Given the description of an element on the screen output the (x, y) to click on. 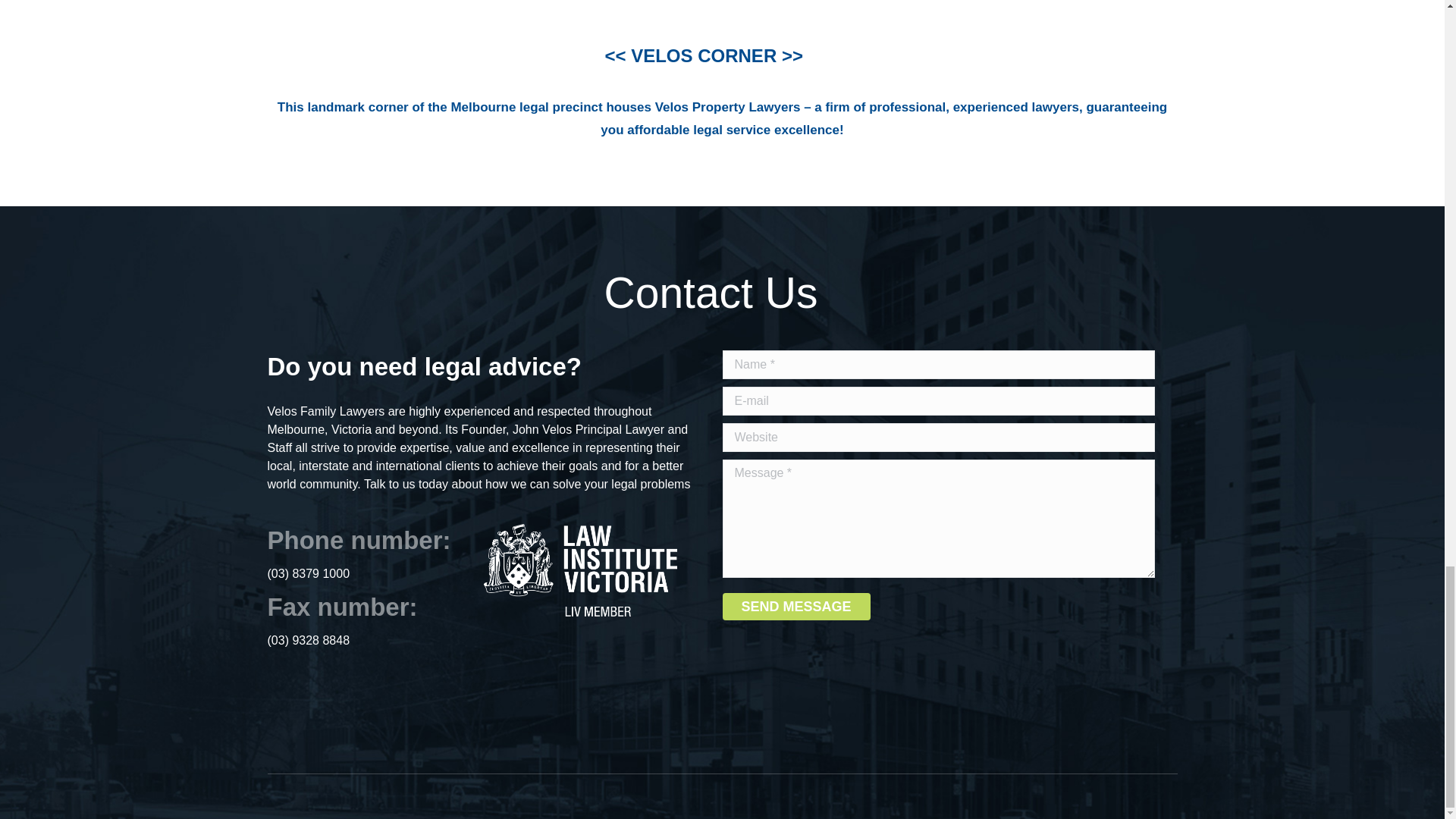
law-institute-victoria-white-logo-no-date (580, 570)
submit (1105, 608)
